Given the description of an element on the screen output the (x, y) to click on. 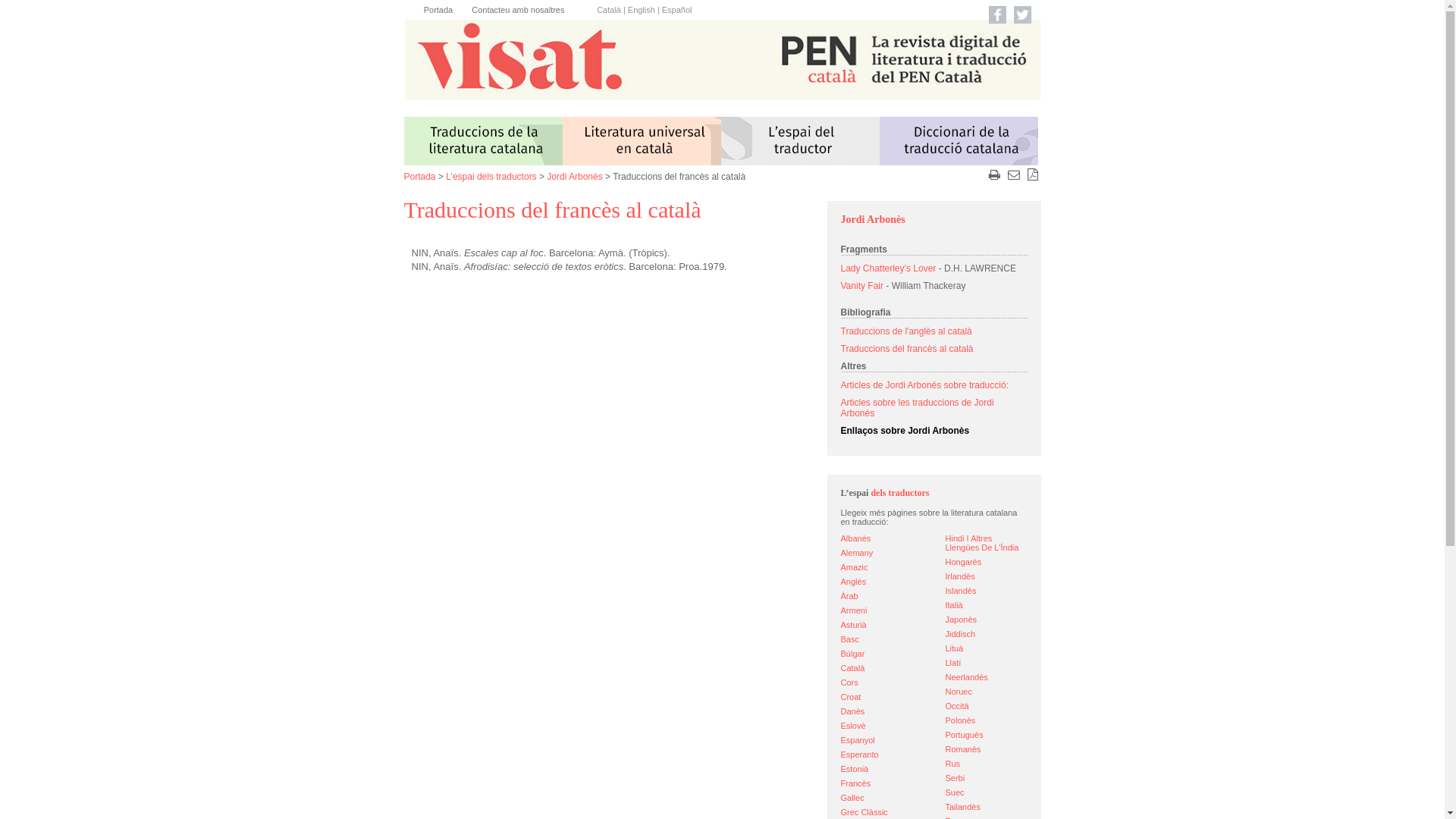
Basc Element type: text (849, 638)
Facebook Element type: text (997, 14)
Twitter Element type: text (1021, 14)
Portada Element type: text (438, 9)
Serbi Element type: text (954, 777)
Cors Element type: text (848, 682)
Gallec Element type: text (851, 797)
Jiddisch Element type: text (959, 633)
Suec Element type: text (953, 792)
Alemany Element type: text (856, 552)
Amazic Element type: text (853, 566)
Espanyol Element type: text (857, 739)
English Element type: text (641, 9)
Rus Element type: text (952, 763)
Contacteu amb nosaltres Element type: text (517, 9)
Noruec Element type: text (957, 691)
Portada Element type: text (419, 176)
Esperanto Element type: text (859, 754)
Vanity Fair Element type: text (861, 285)
Croat Element type: text (850, 696)
Armeni Element type: text (853, 610)
